Given the description of an element on the screen output the (x, y) to click on. 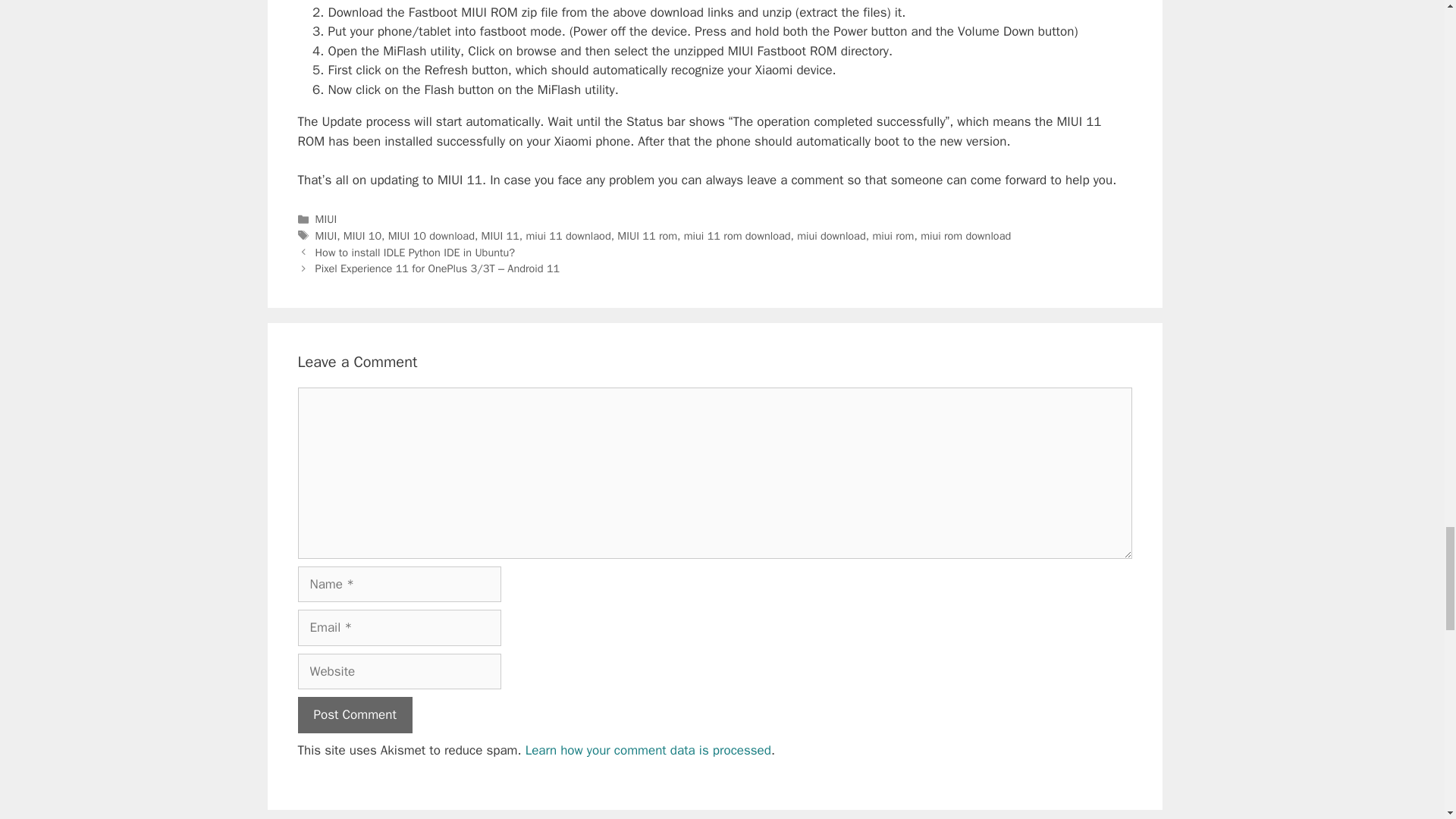
miui rom (893, 235)
MIUI (326, 219)
miui download (831, 235)
miui 11 downlaod (568, 235)
Learn how your comment data is processed (648, 750)
MIUI 10 download (431, 235)
miui rom download (965, 235)
MIUI (326, 235)
miui 11 rom download (737, 235)
